Given the description of an element on the screen output the (x, y) to click on. 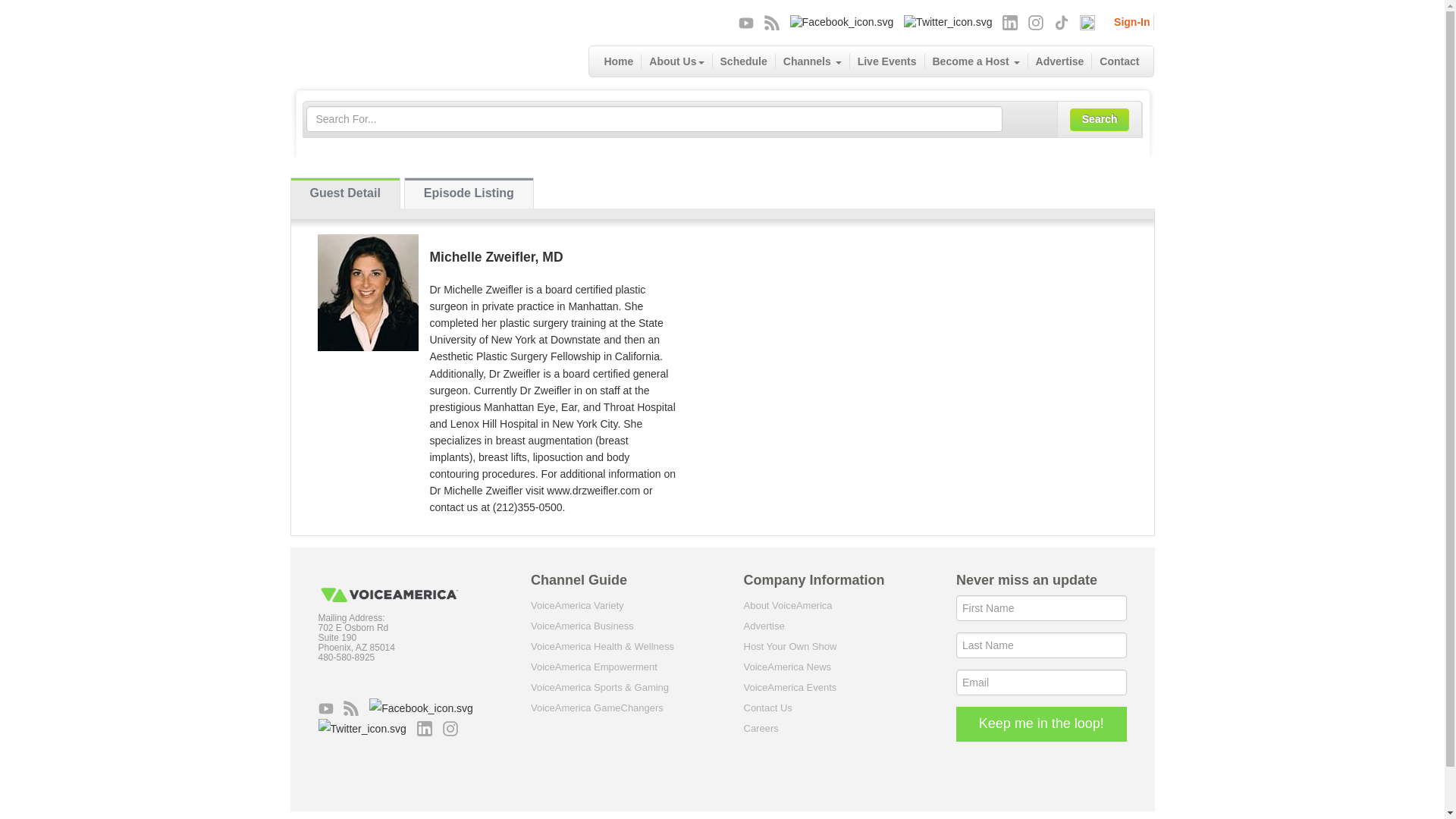
Become a Host (975, 61)
Guest Detail (344, 193)
guest-episodes (468, 193)
Host Your Own Show (788, 645)
Channels (813, 61)
Search (1099, 119)
VoiceAmerica Variety (577, 604)
VoiceAmerica Events (788, 686)
Schedule (744, 61)
Contact (1119, 61)
